Given the description of an element on the screen output the (x, y) to click on. 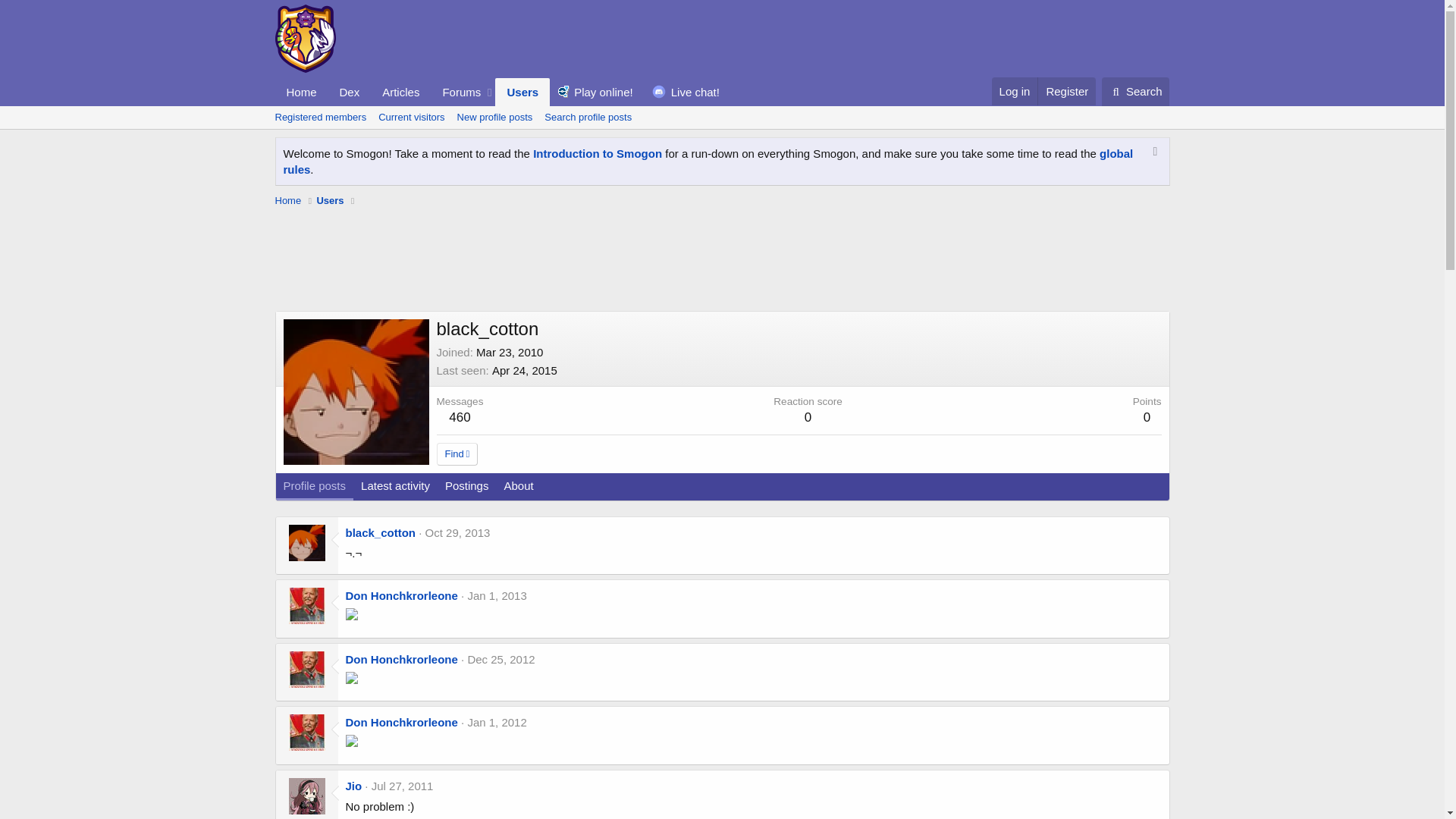
Home (288, 200)
Search (1136, 91)
Jan 1, 2013 at 10:09 AM (496, 594)
Search (1136, 91)
Log in (1014, 90)
Apr 24, 2015 at 10:03 PM (524, 369)
Forums (456, 91)
Oct 29, 2013 at 6:38 PM (457, 532)
Register (1066, 90)
Dex (350, 91)
Search profile posts (587, 117)
global rules (708, 161)
Users (329, 200)
New profile posts (494, 117)
